Given the description of an element on the screen output the (x, y) to click on. 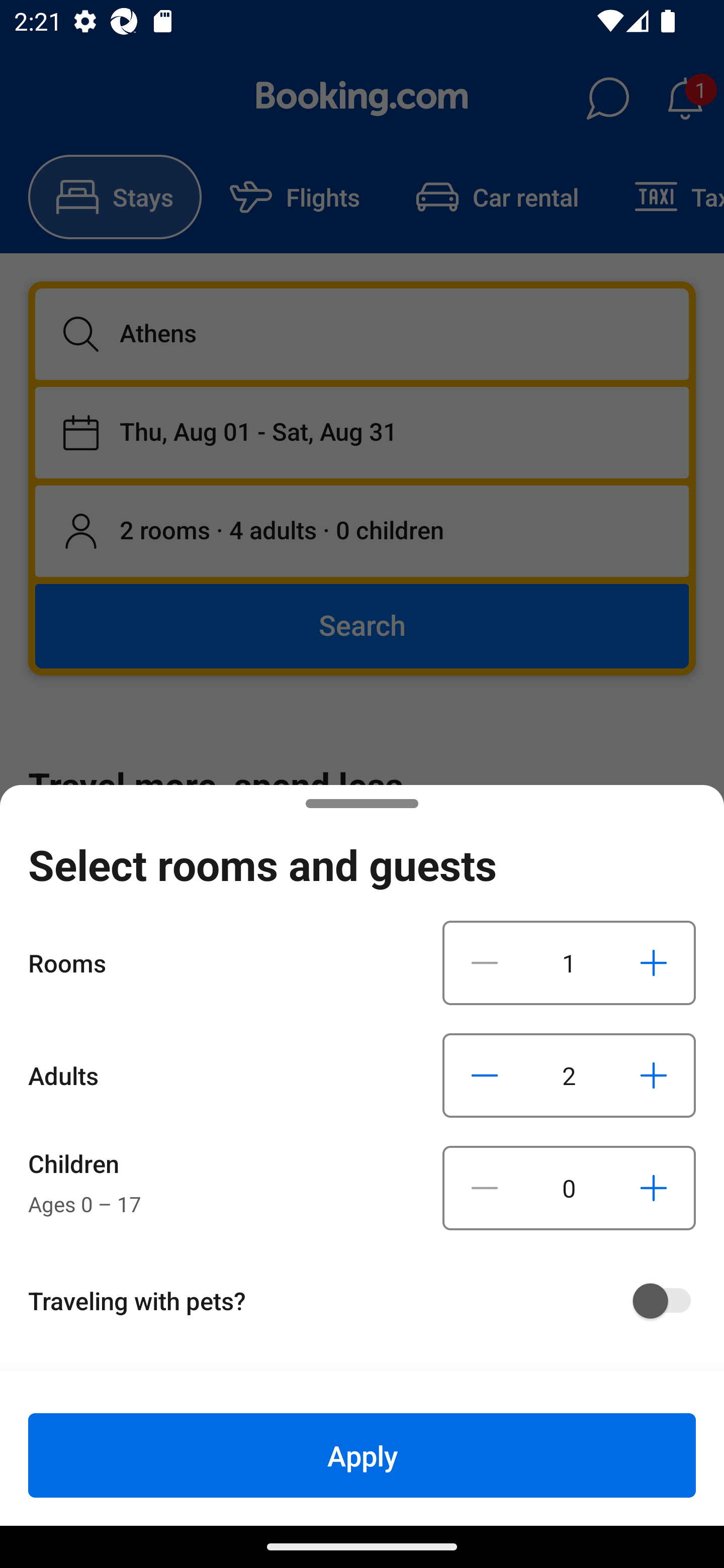
Decrease (484, 962)
Increase (653, 962)
Decrease (484, 1075)
Increase (653, 1075)
Decrease (484, 1188)
Increase (653, 1188)
Traveling with pets? (369, 1300)
Apply (361, 1454)
